Given the description of an element on the screen output the (x, y) to click on. 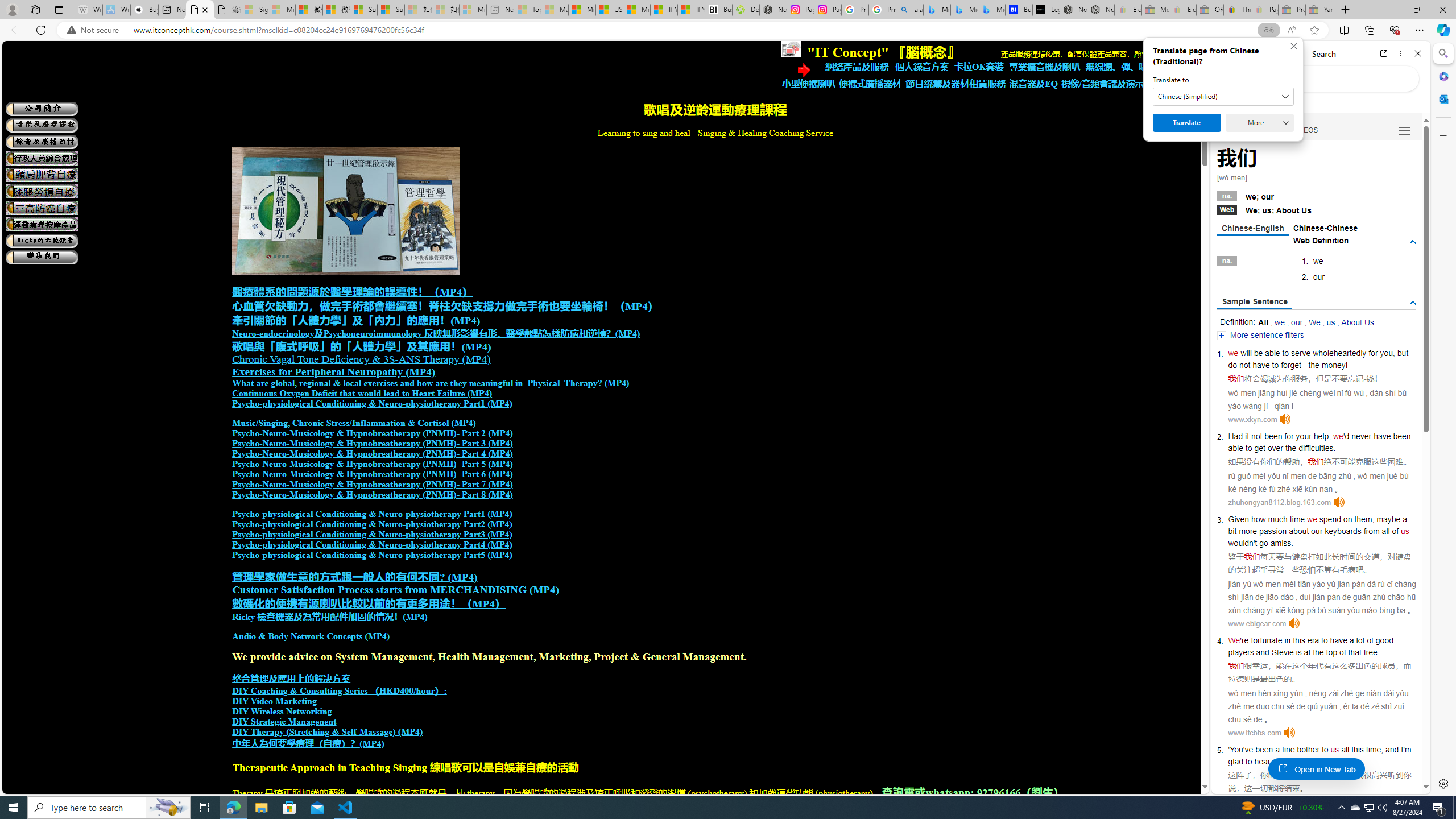
Read aloud this page (Ctrl+Shift+U) (1291, 29)
(MP4) (371, 743)
Side bar (1443, 418)
! (1346, 364)
we (1312, 519)
Click to listen (1289, 732)
difficulties (1315, 447)
and (1262, 651)
Open link in new tab (1383, 53)
good (1384, 640)
amiss (1280, 542)
